Given the description of an element on the screen output the (x, y) to click on. 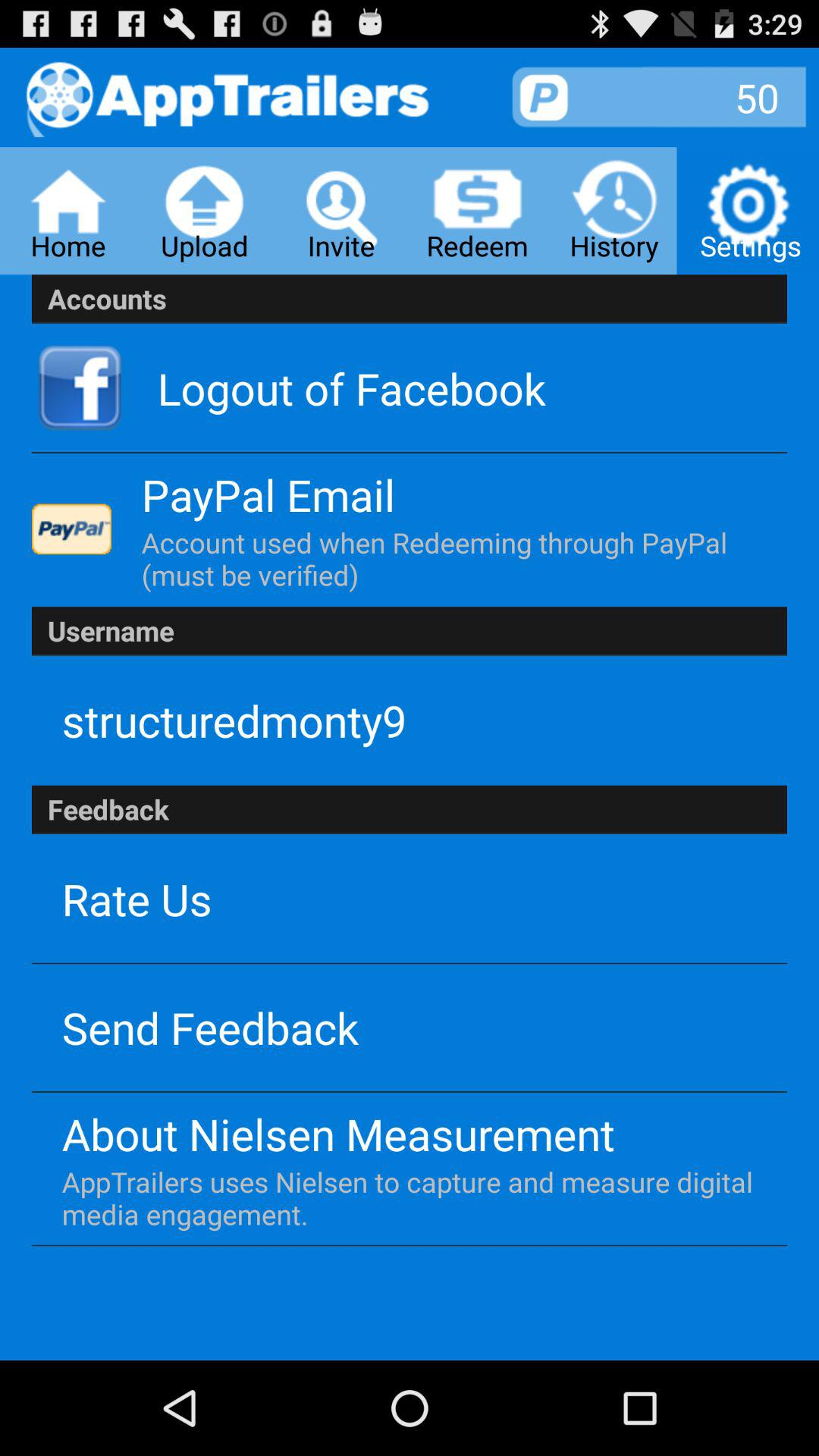
choose app below the send feedback (337, 1133)
